Given the description of an element on the screen output the (x, y) to click on. 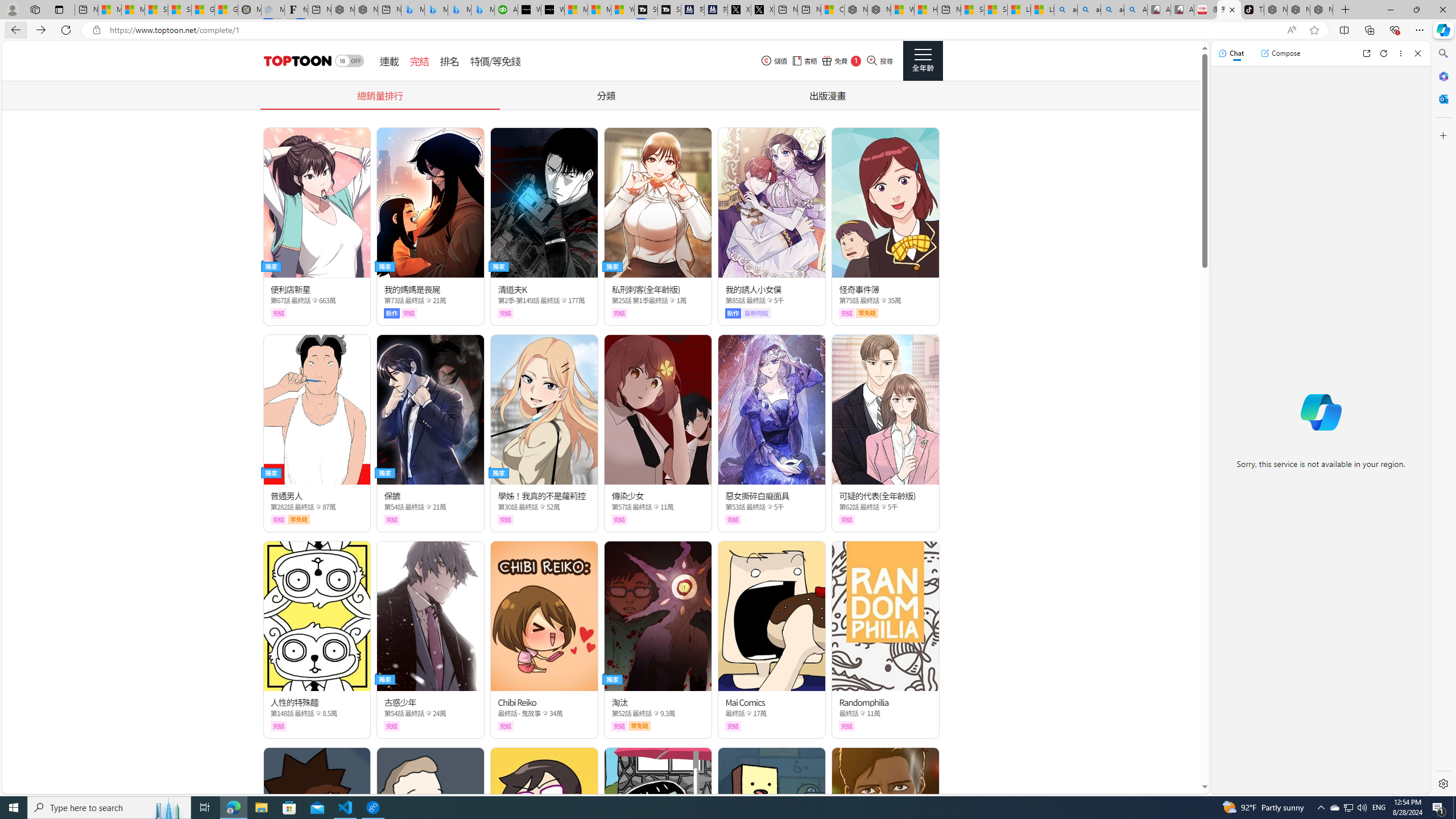
Accounting Software for Accountants, CPAs and Bookkeepers (505, 9)
Streaming Coverage | T3 (645, 9)
TikTok (1252, 9)
